Given the description of an element on the screen output the (x, y) to click on. 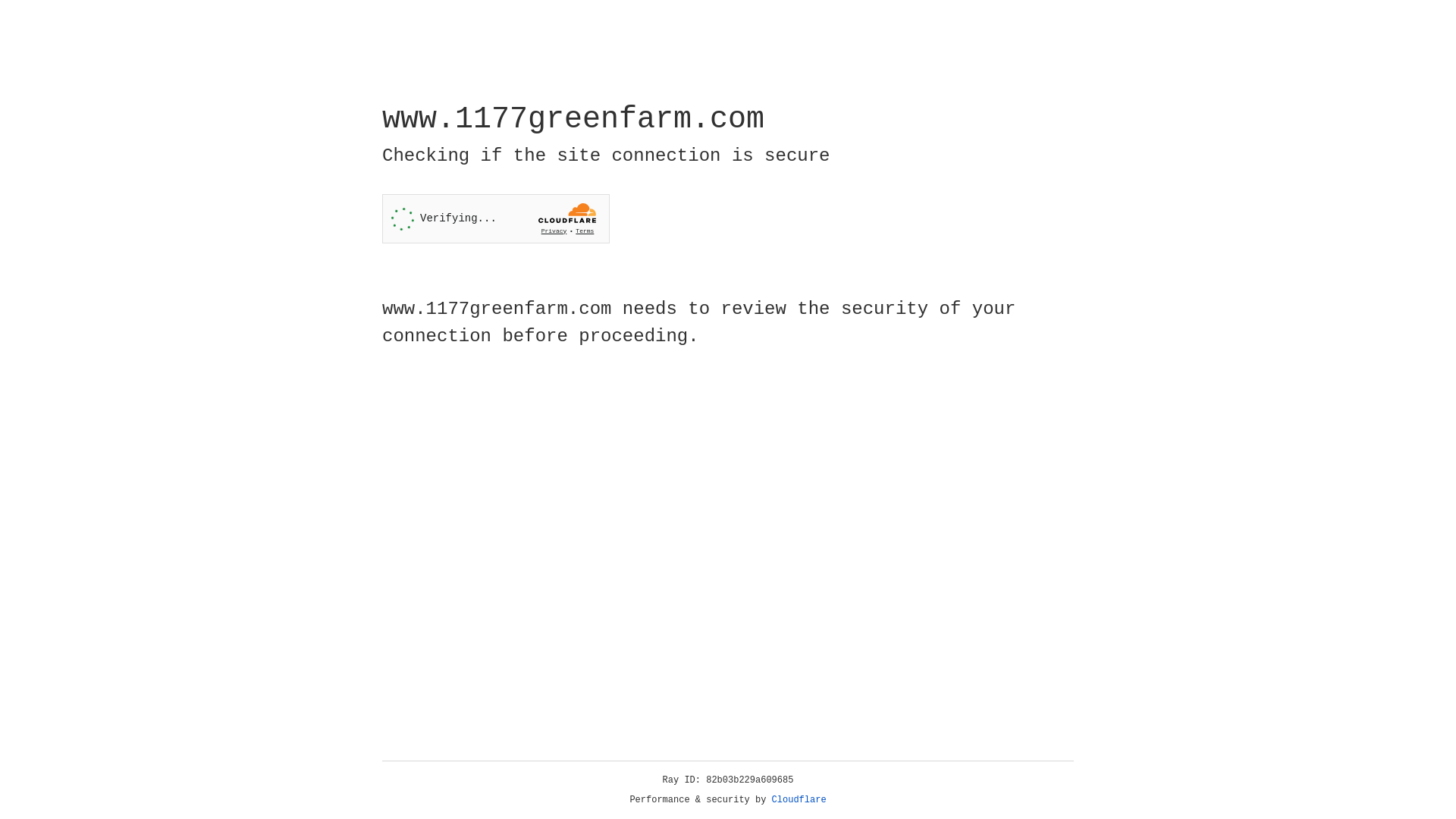
Cloudflare Element type: text (798, 799)
Widget containing a Cloudflare security challenge Element type: hover (495, 218)
